Given the description of an element on the screen output the (x, y) to click on. 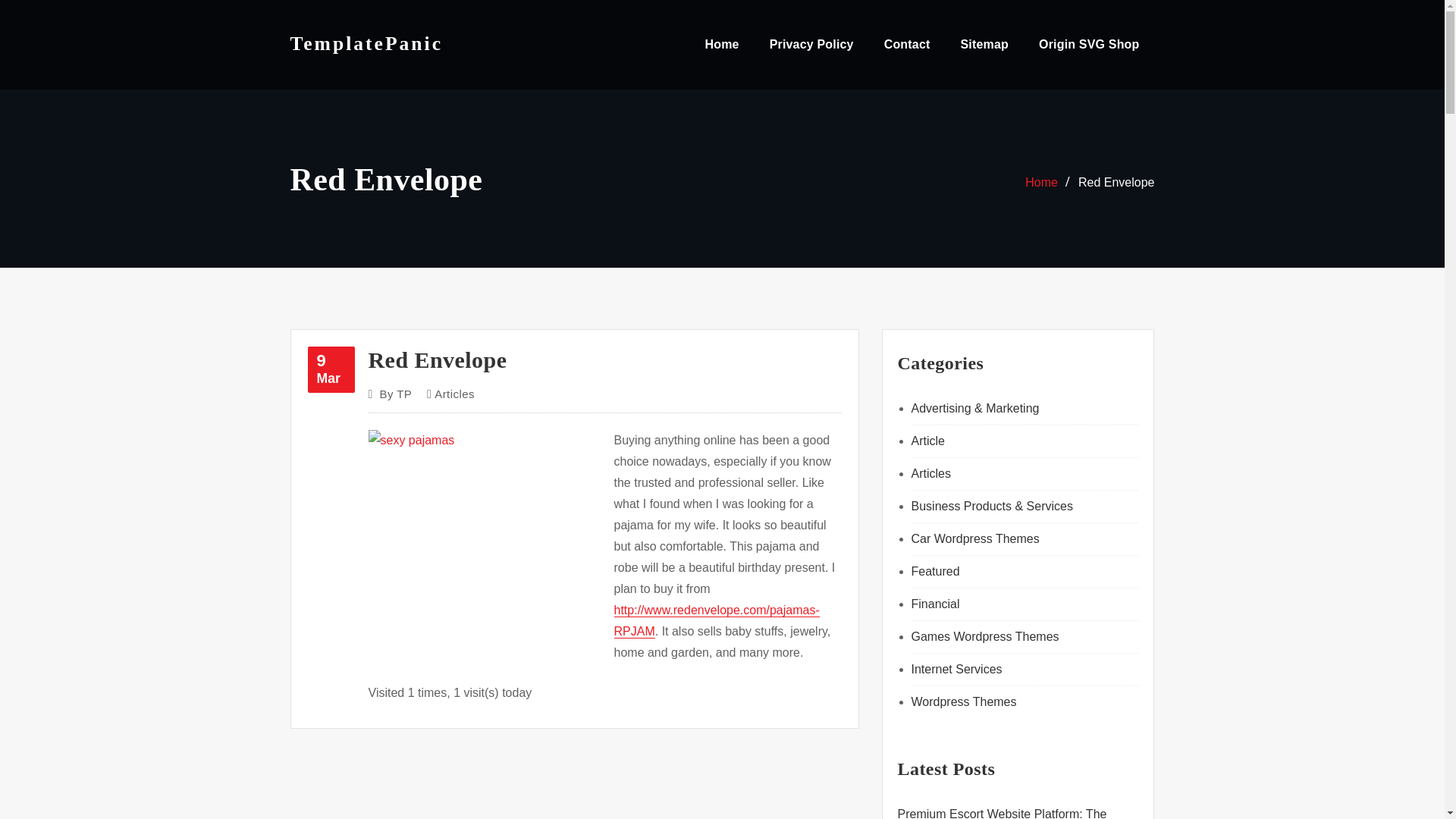
Red Envelope (1116, 182)
Car Wordpress Themes (975, 538)
Financial (935, 603)
Internet Services (957, 668)
Articles (930, 472)
Games Wordpress Themes (985, 635)
Article (330, 369)
Articles (927, 440)
By TP (453, 394)
